Given the description of an element on the screen output the (x, y) to click on. 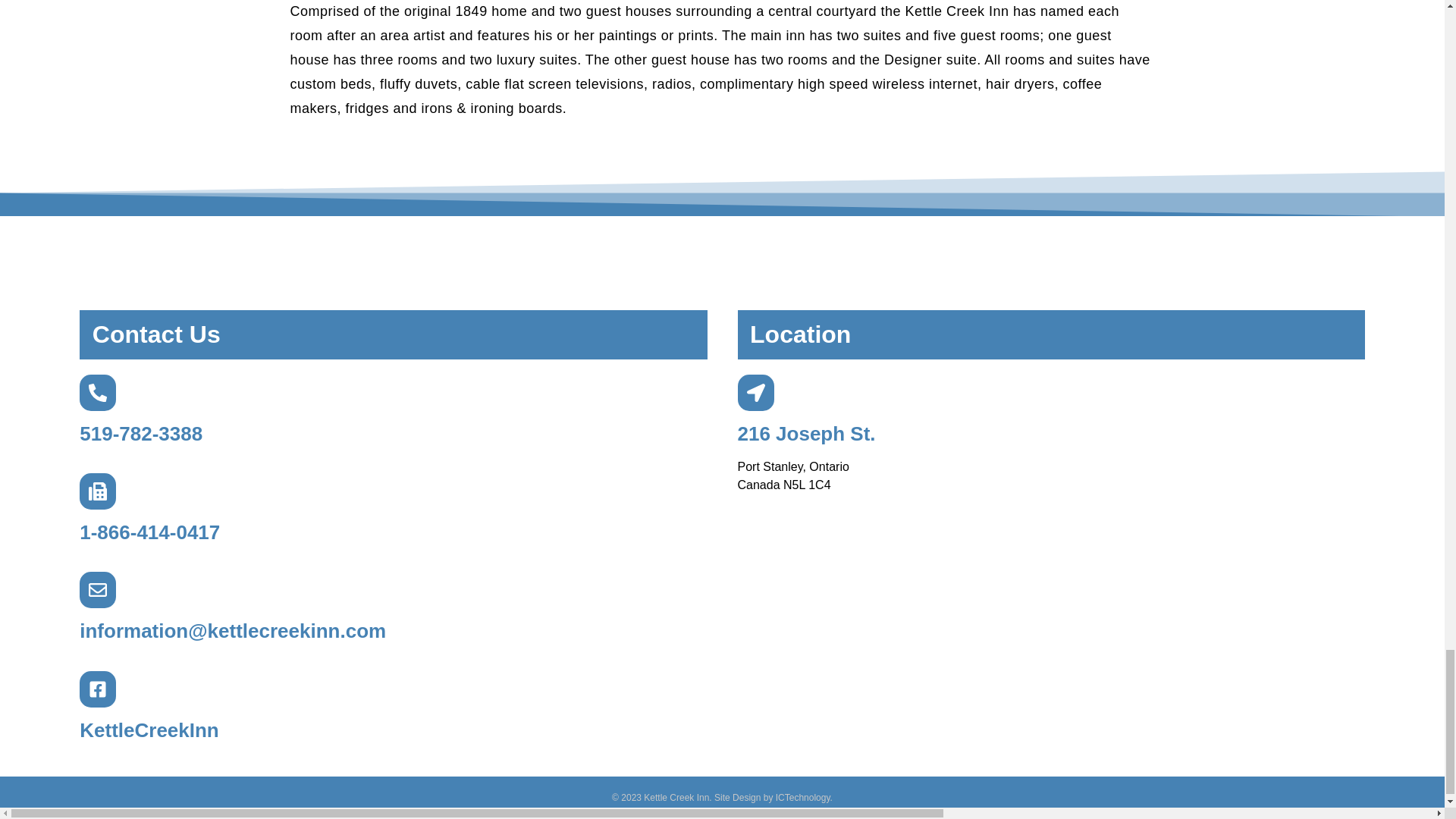
kettle creek inn, port stanley, ontario, canada (1050, 590)
KettleCreekInn (149, 730)
